Given the description of an element on the screen output the (x, y) to click on. 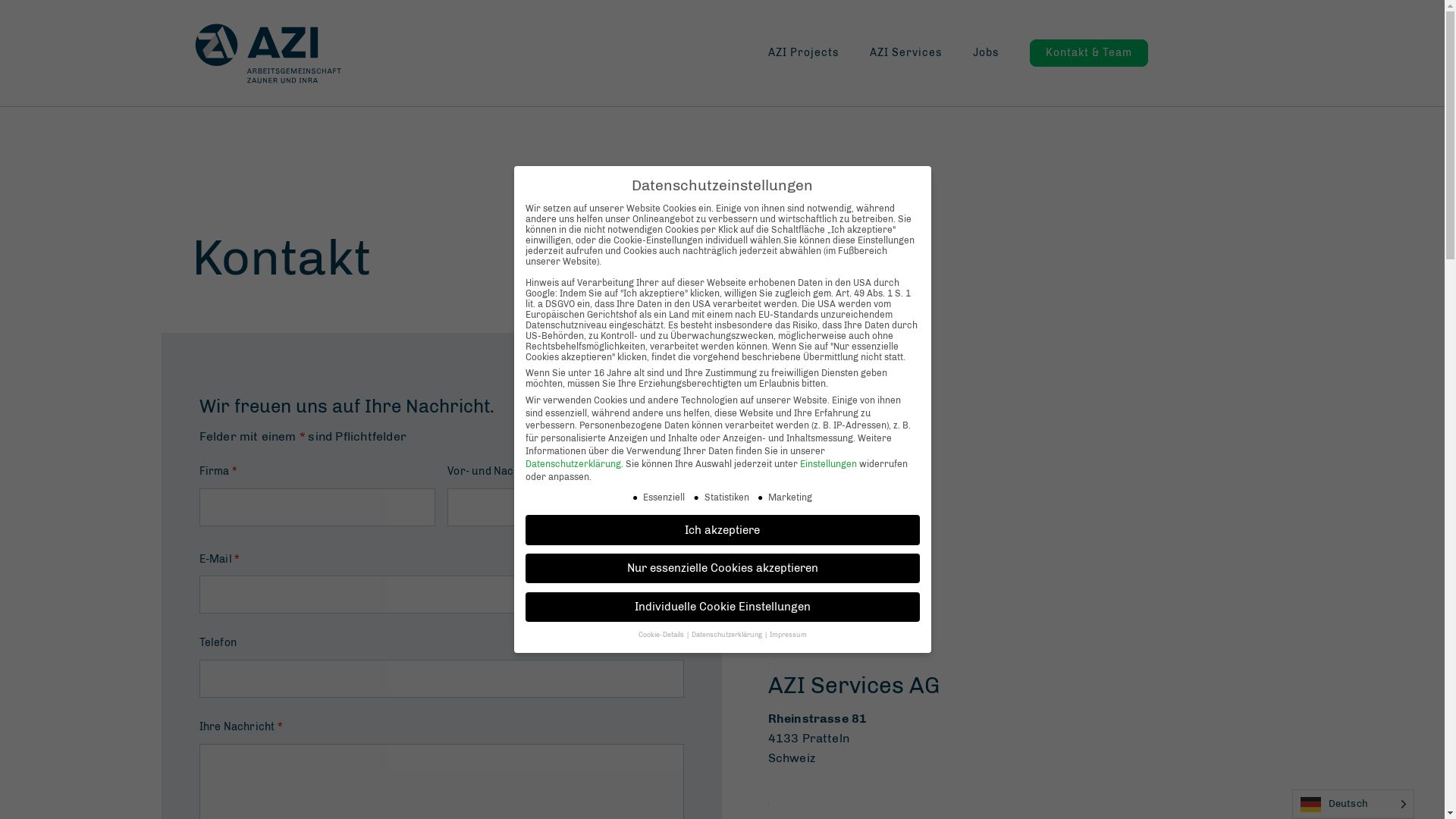
Impressum Element type: text (787, 634)
Individuelle Cookie Einstellungen Element type: text (721, 606)
Einstellungen Element type: text (827, 463)
Ich akzeptiere Element type: text (721, 529)
Jobs Element type: text (1000, 52)
Nur essenzielle Cookies akzeptieren Element type: text (721, 568)
AZI Services Element type: text (920, 52)
azi_logo_mit_claim_color Element type: hover (266, 53)
AZI Projects Element type: text (817, 52)
Kontakt & Team Element type: text (1088, 52)
Cookie-Details Element type: text (661, 634)
